Given the description of an element on the screen output the (x, y) to click on. 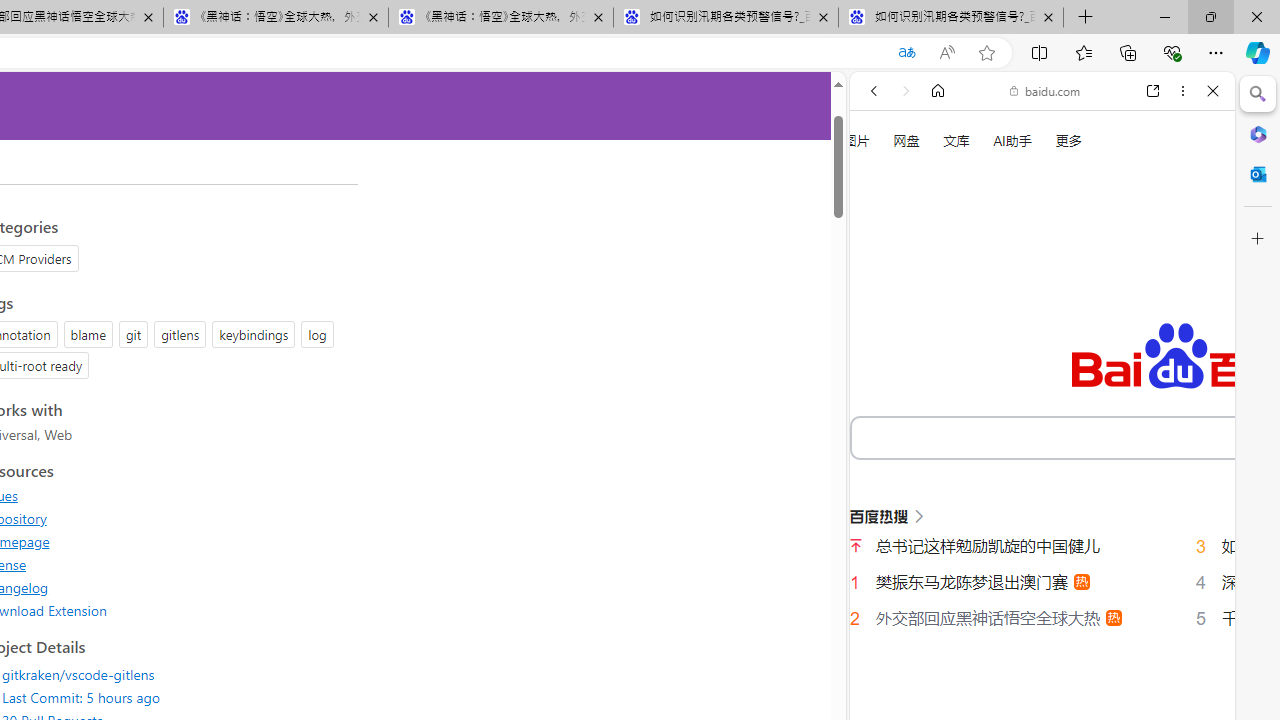
OF | English meaning - Cambridge Dictionary (1034, 419)
Class: b_serphb (1190, 339)
Search Filter, VIDEOS (1006, 339)
English (US) (1042, 579)
baidu.com (1045, 90)
Forward (906, 91)
Search Filter, Search Tools (1093, 339)
Search the web (1051, 137)
